Given the description of an element on the screen output the (x, y) to click on. 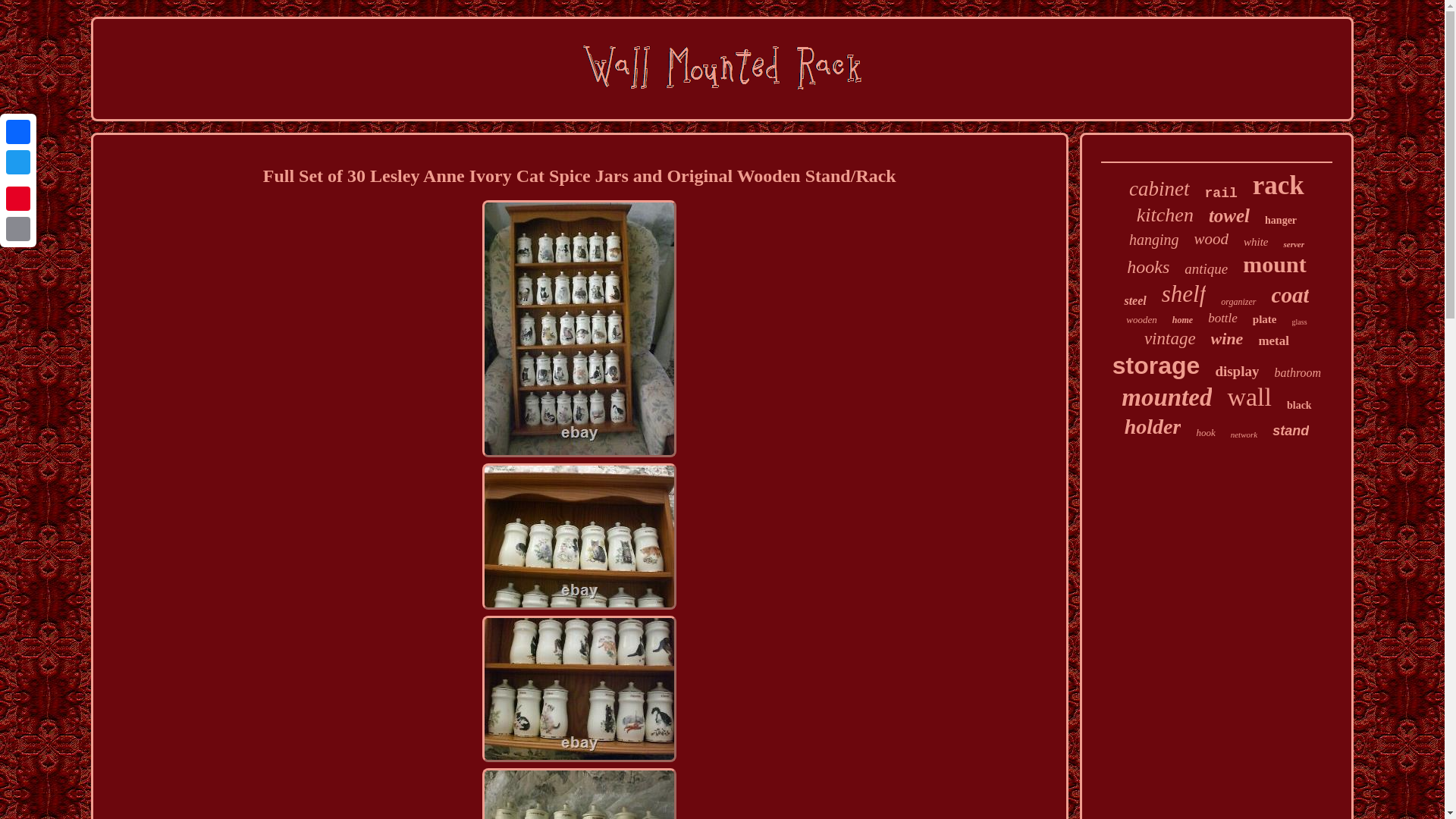
kitchen (1165, 214)
rack (1278, 185)
server (1293, 243)
display (1236, 371)
organizer (1238, 301)
Twitter (17, 162)
Email (17, 228)
glass (1299, 321)
hanging (1154, 239)
metal (1272, 340)
